Given the description of an element on the screen output the (x, y) to click on. 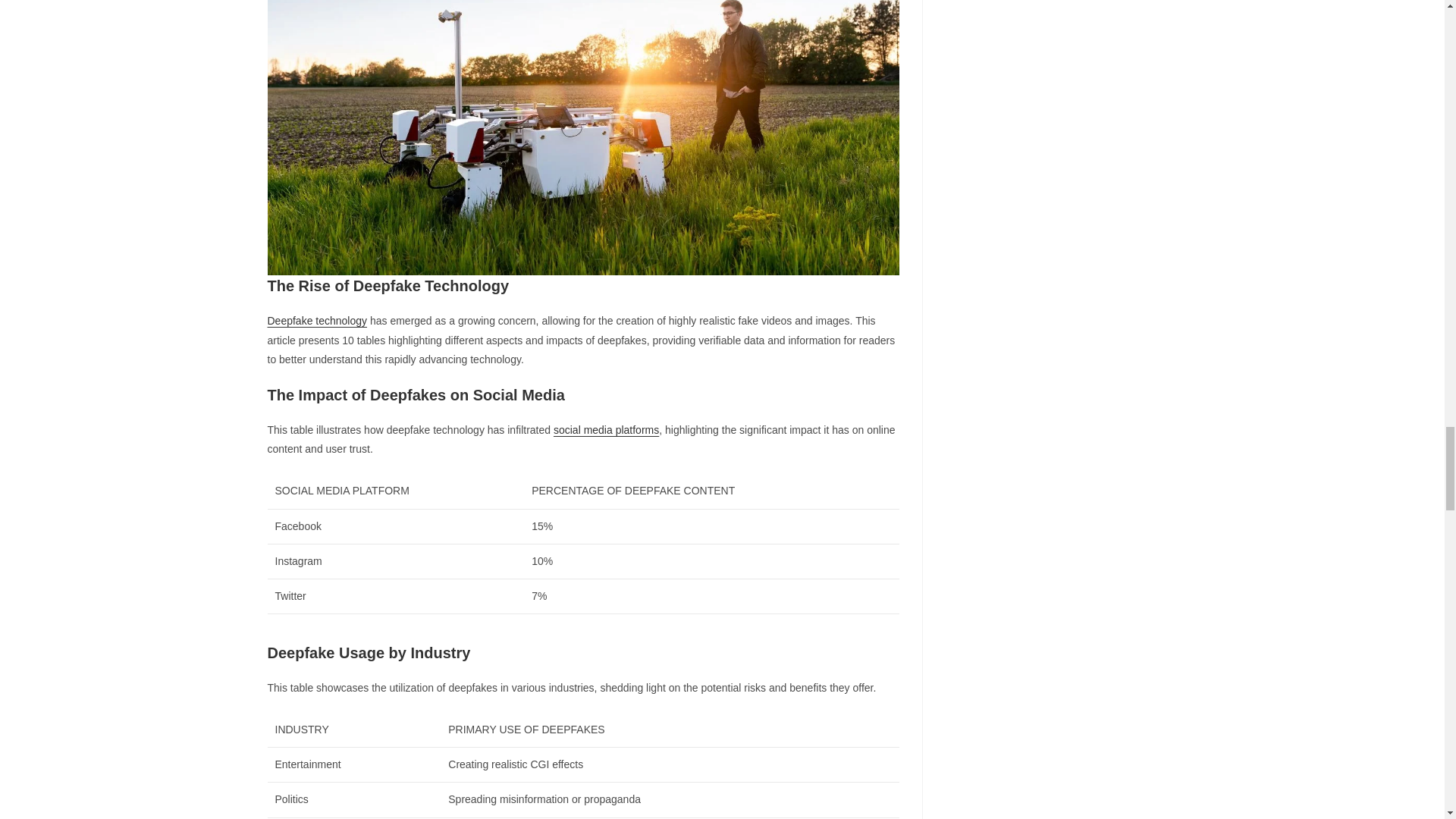
Deepfake technology (316, 320)
social media platforms (606, 429)
